Given the description of an element on the screen output the (x, y) to click on. 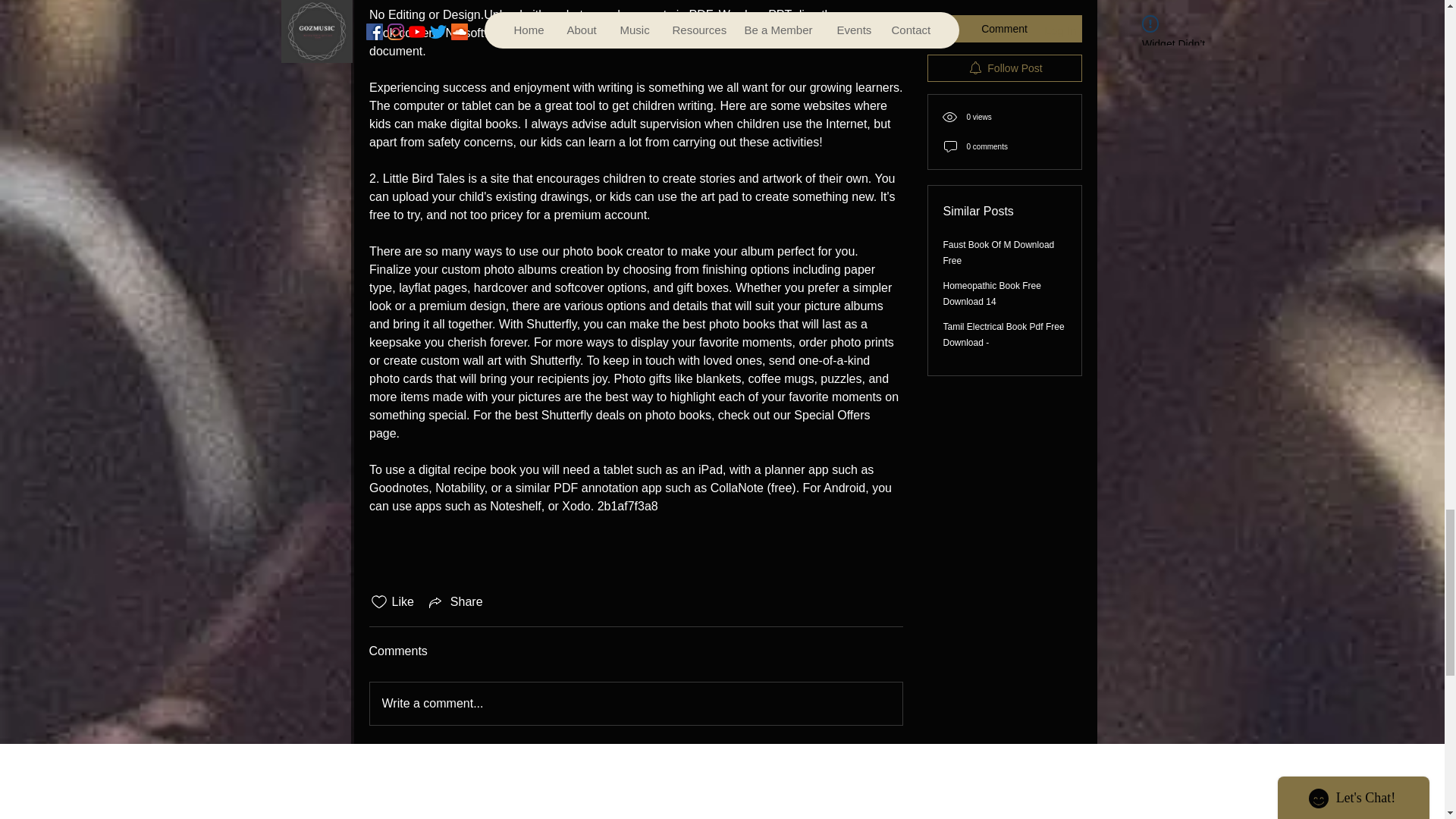
Write a comment... (635, 703)
Share (454, 601)
